Given the description of an element on the screen output the (x, y) to click on. 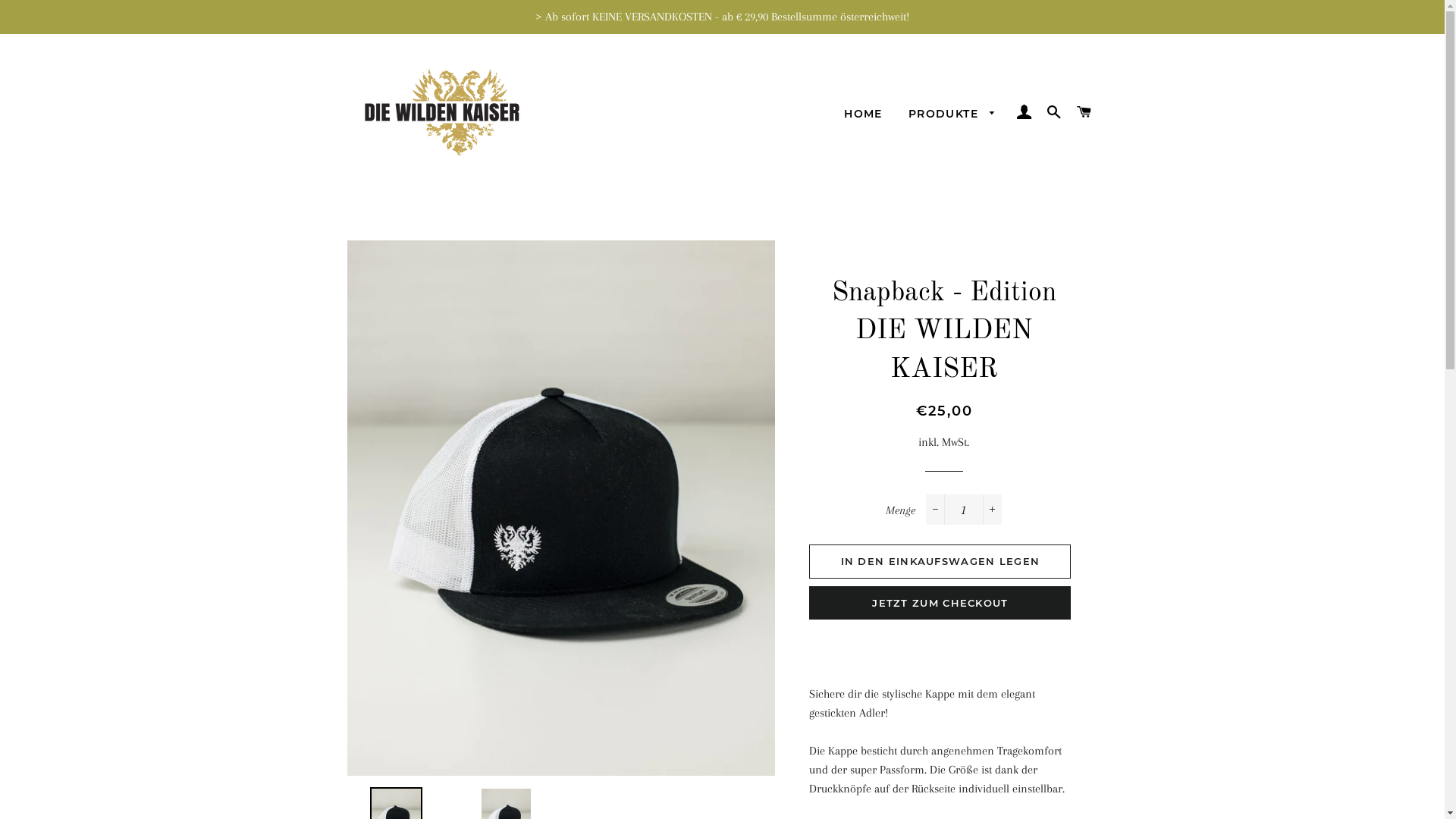
HOME Element type: text (863, 114)
SUCHE Element type: text (1054, 111)
JETZT ZUM CHECKOUT Element type: text (939, 602)
IN DEN EINKAUFSWAGEN LEGEN Element type: text (939, 560)
EINLOGGEN Element type: text (1023, 111)
PRODUKTE Element type: text (952, 114)
EINKAUFSWAGEN Element type: text (1083, 111)
+ Element type: text (991, 509)
